Given the description of an element on the screen output the (x, y) to click on. 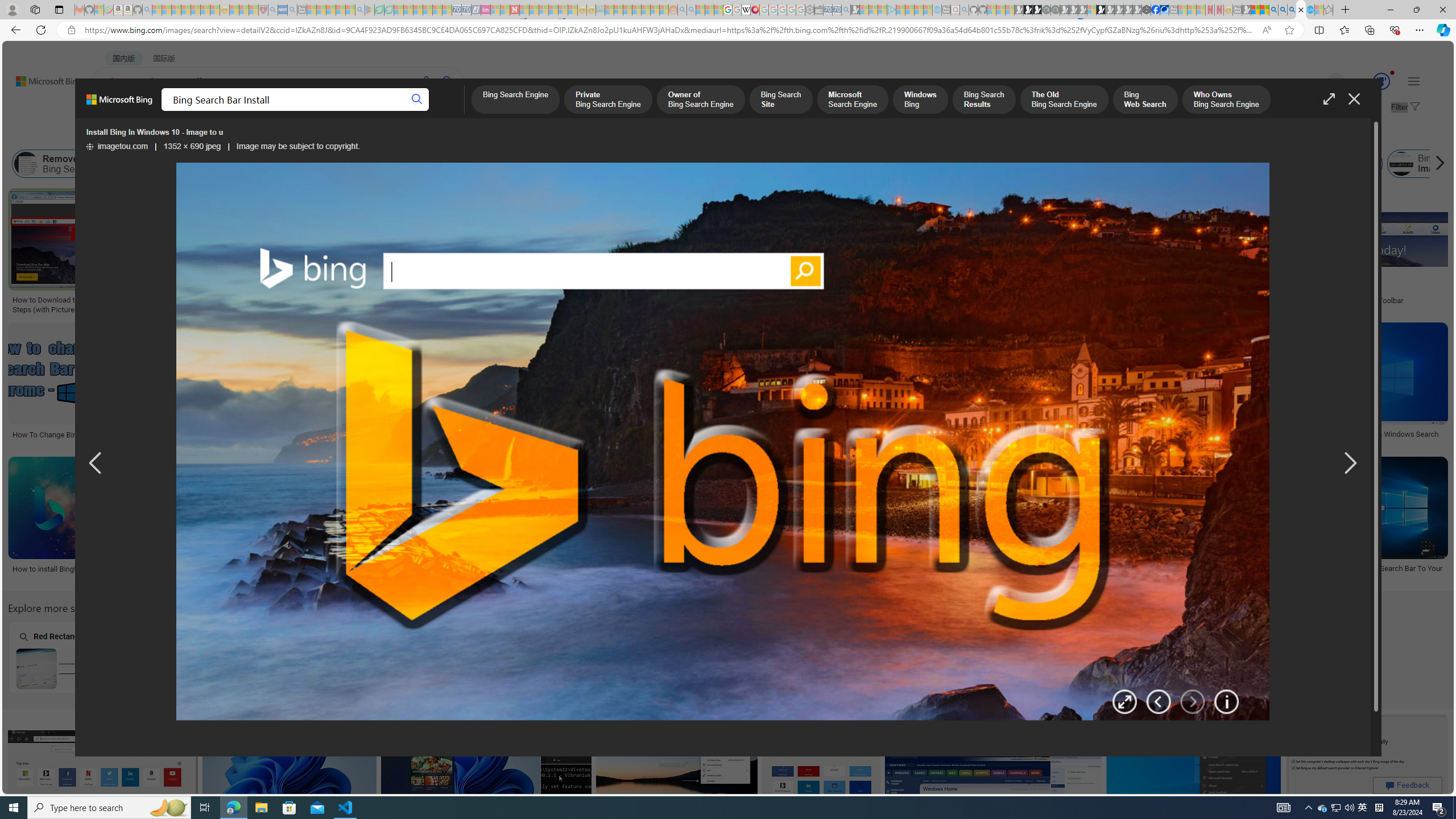
Scroll right (1436, 163)
Bing Web Search Bar (139, 163)
How to install Bing with ChatGPT as an app on Windows 11 (1170, 433)
Bing AI - Search (1272, 9)
Kinda Frugal - MSN - Sleeping (645, 9)
Remove Bing Search Bar (25, 163)
Bluey: Let's Play! - Apps on Google Play - Sleeping (369, 9)
